Given the description of an element on the screen output the (x, y) to click on. 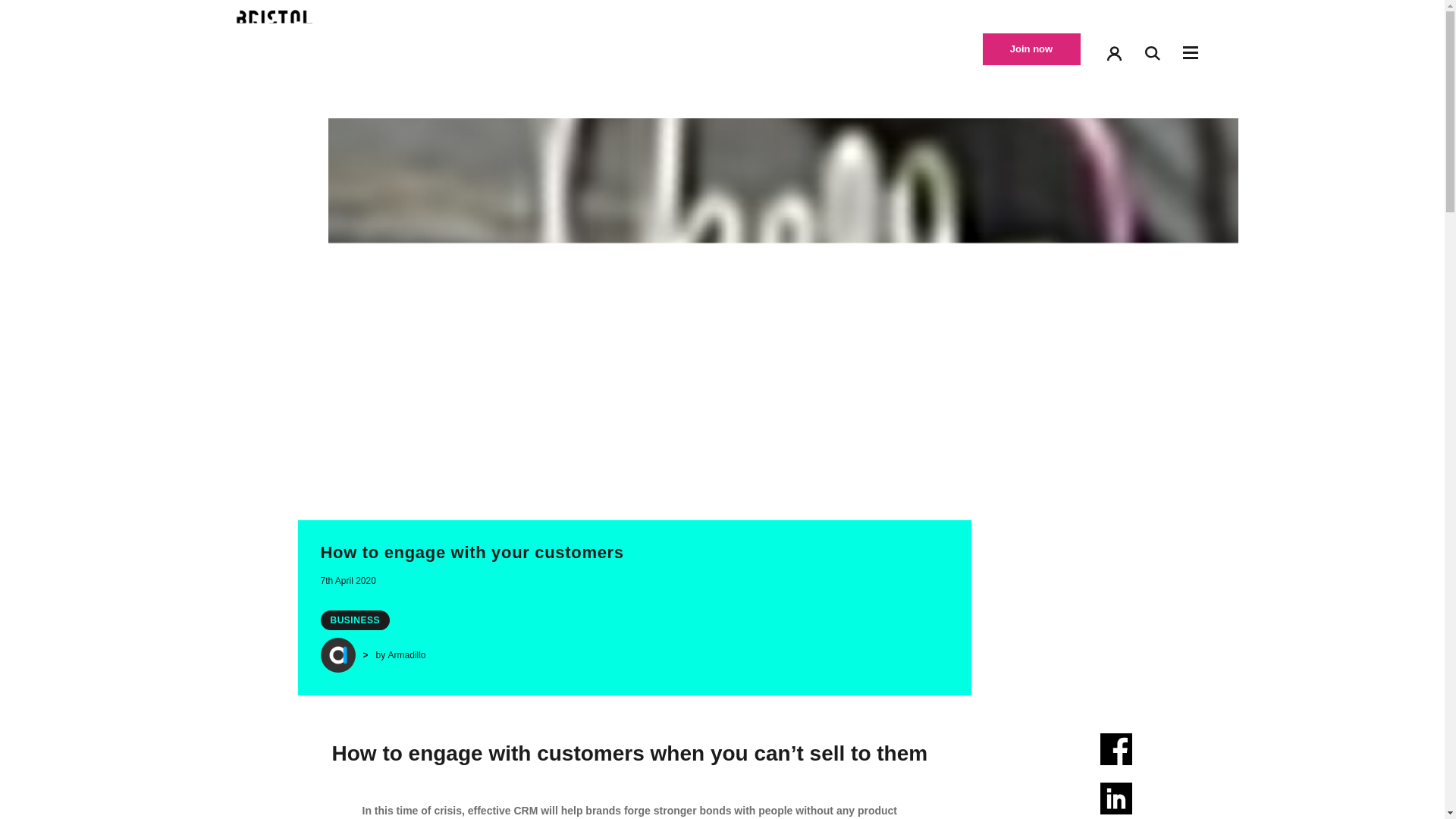
Armadillo (407, 654)
Join now (1031, 49)
